Given the description of an element on the screen output the (x, y) to click on. 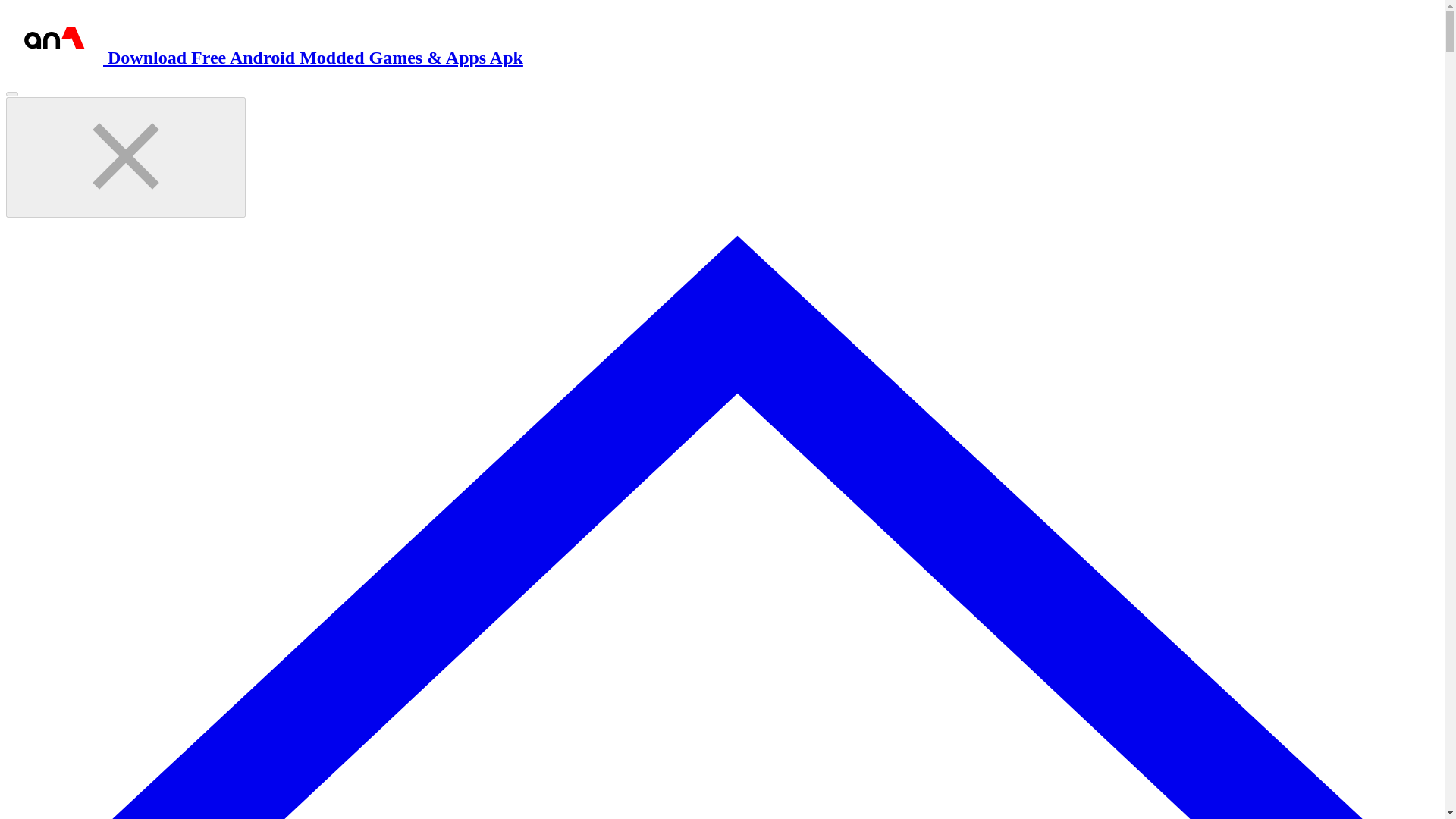
AN1 (263, 57)
